Given the description of an element on the screen output the (x, y) to click on. 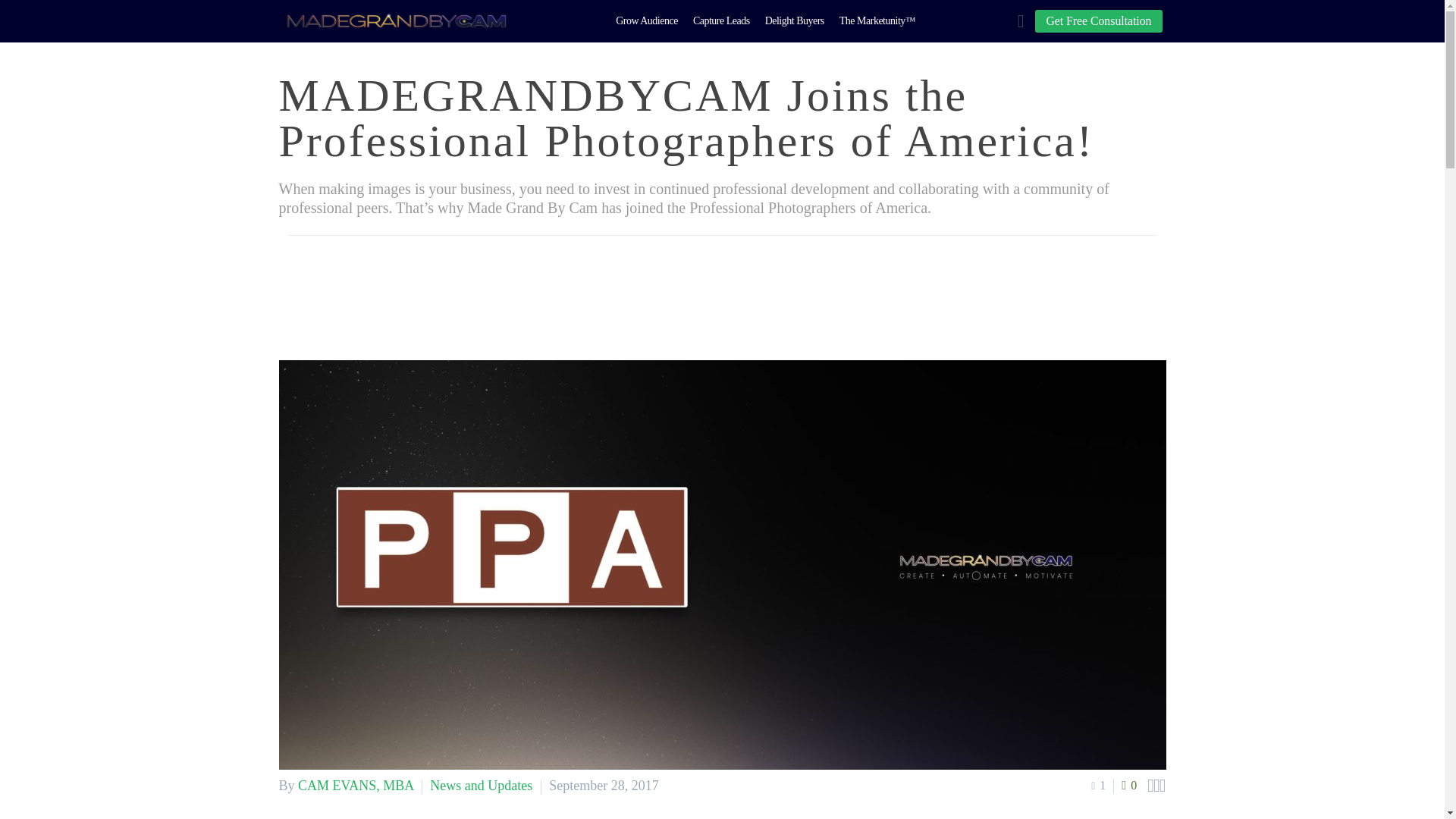
madegrandbycam.com (395, 21)
Grow Audience (646, 21)
